Given the description of an element on the screen output the (x, y) to click on. 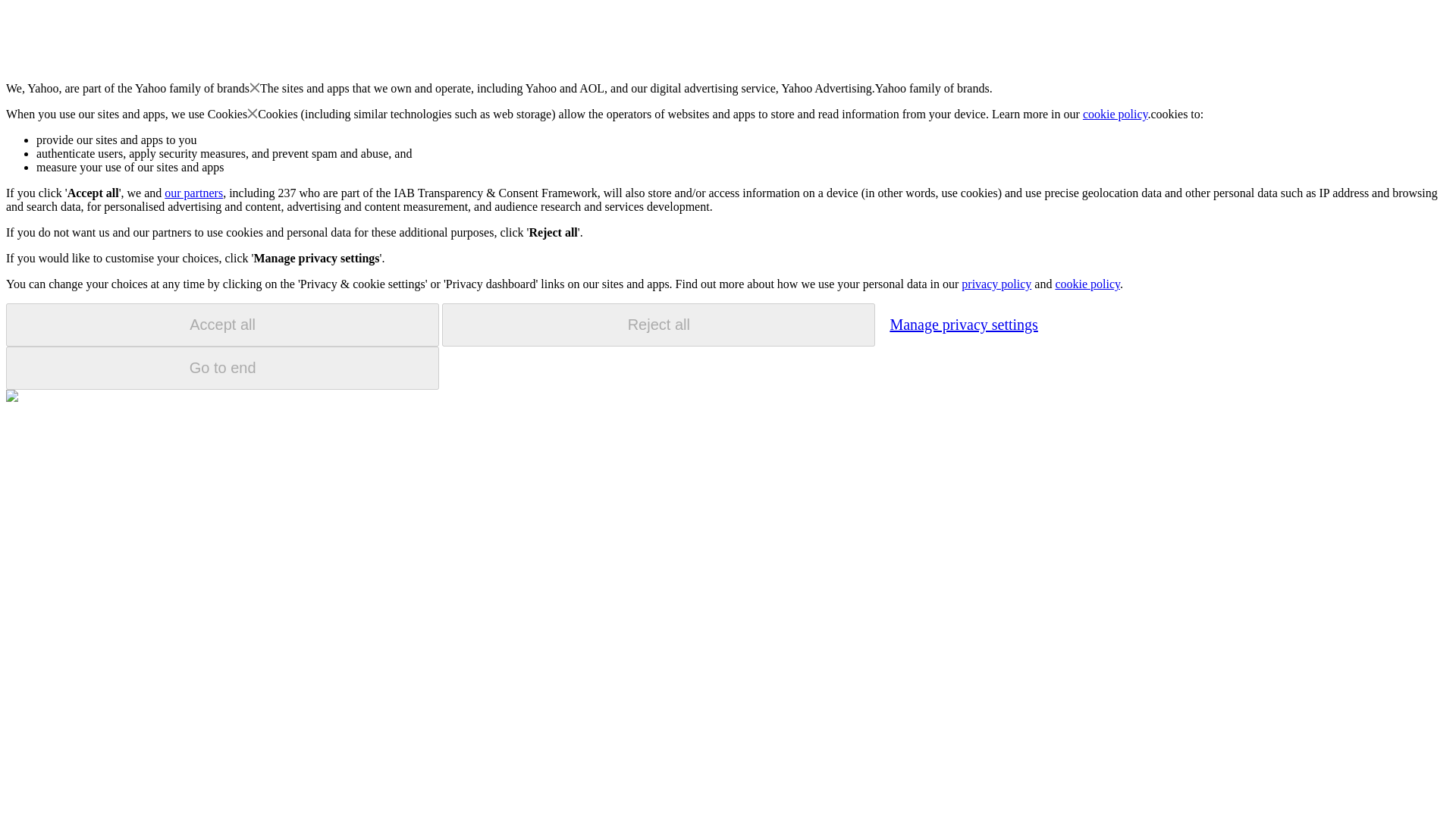
privacy policy (995, 283)
Go to end (222, 367)
Manage privacy settings (963, 323)
our partners (193, 192)
cookie policy (1115, 113)
Accept all (222, 324)
cookie policy (1086, 283)
Reject all (658, 324)
